Given the description of an element on the screen output the (x, y) to click on. 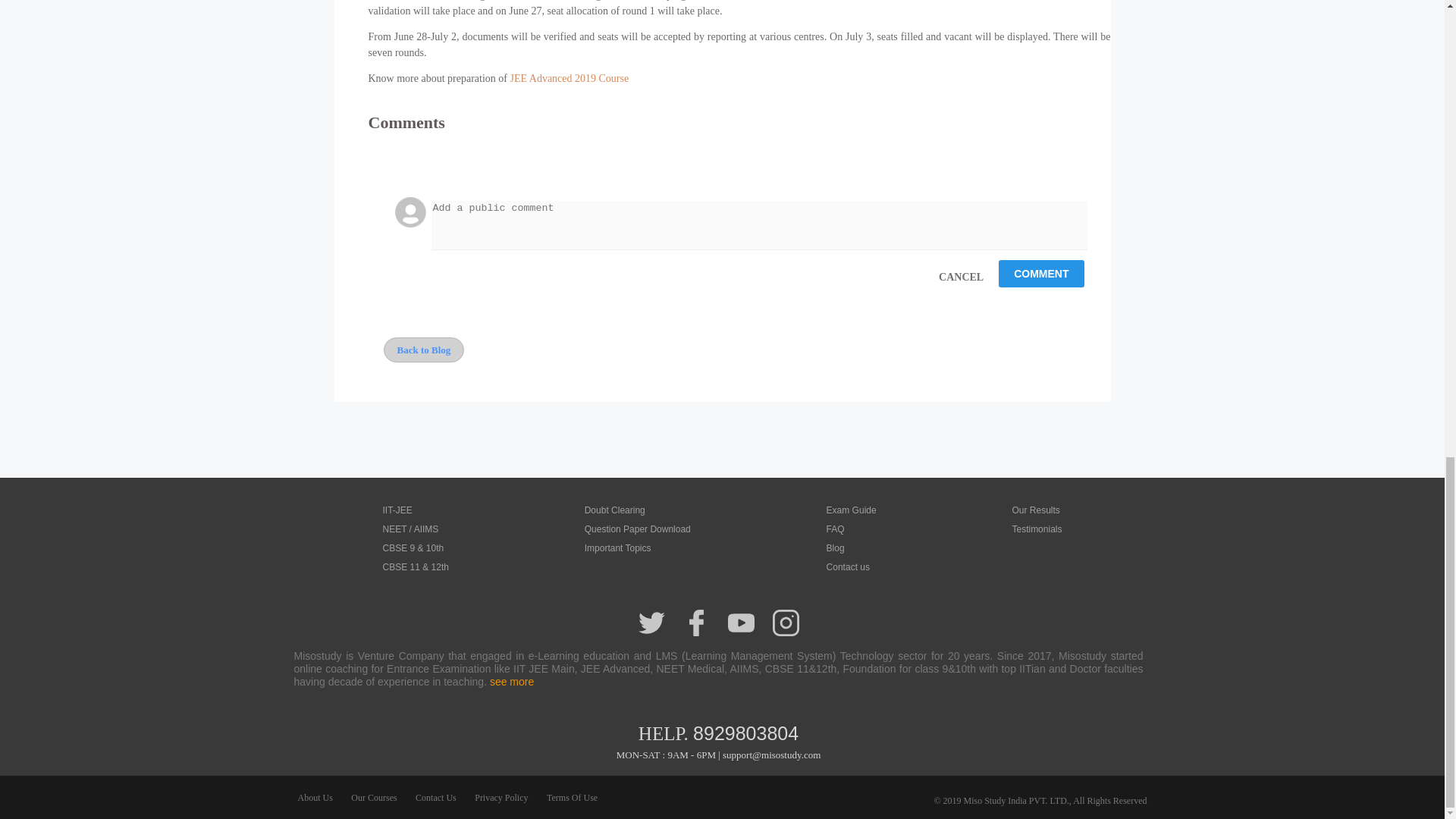
Comment (1040, 273)
